Given the description of an element on the screen output the (x, y) to click on. 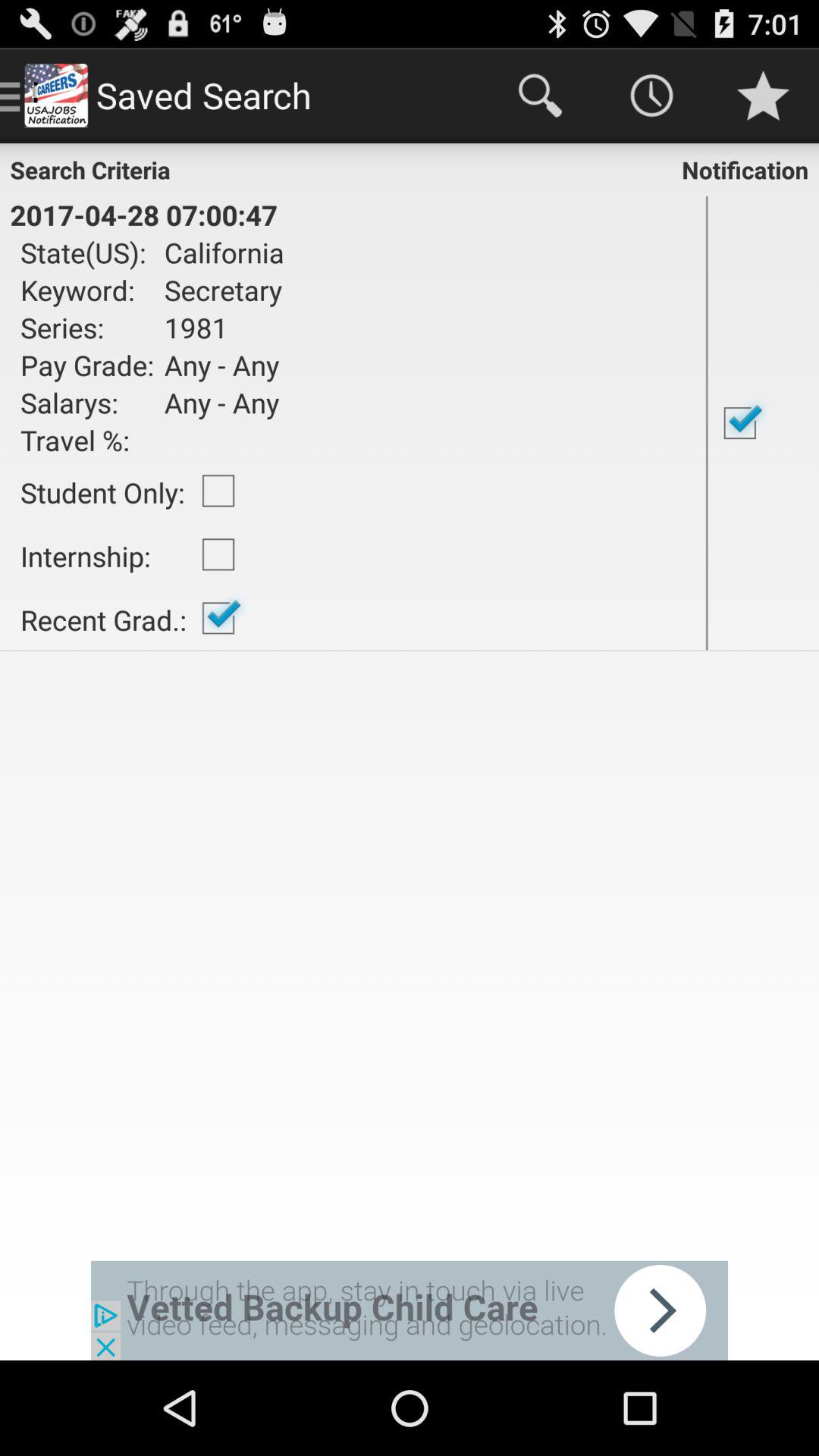
activate or deactivate the notifications (763, 423)
